Given the description of an element on the screen output the (x, y) to click on. 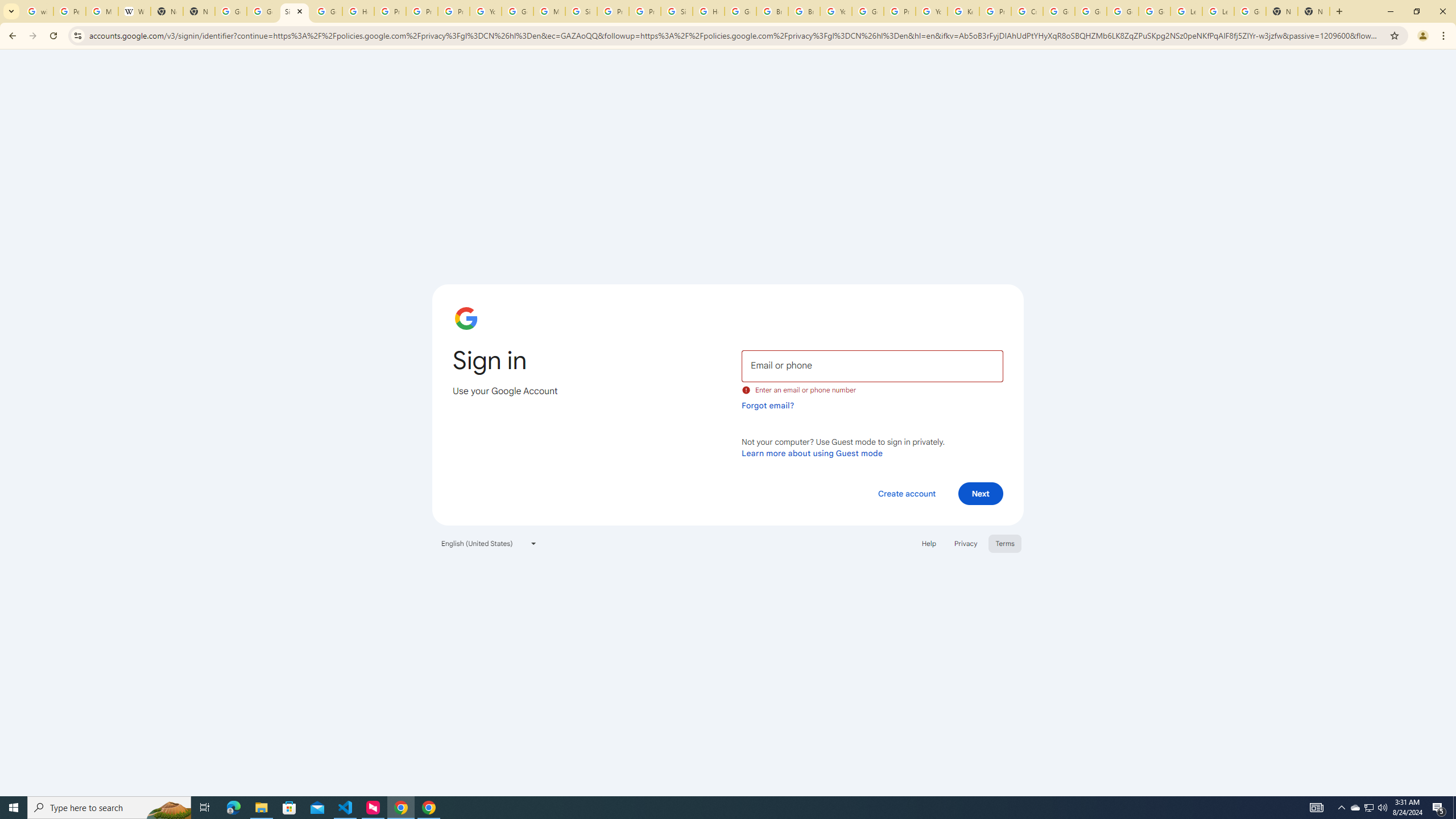
Google Account Help (1059, 11)
English (United States) (489, 542)
New Tab (1281, 11)
YouTube (836, 11)
Email or phone (871, 365)
Google Drive: Sign-in (262, 11)
Google Account (1249, 11)
Google Account Help (1091, 11)
Sign in - Google Accounts (676, 11)
